Given the description of an element on the screen output the (x, y) to click on. 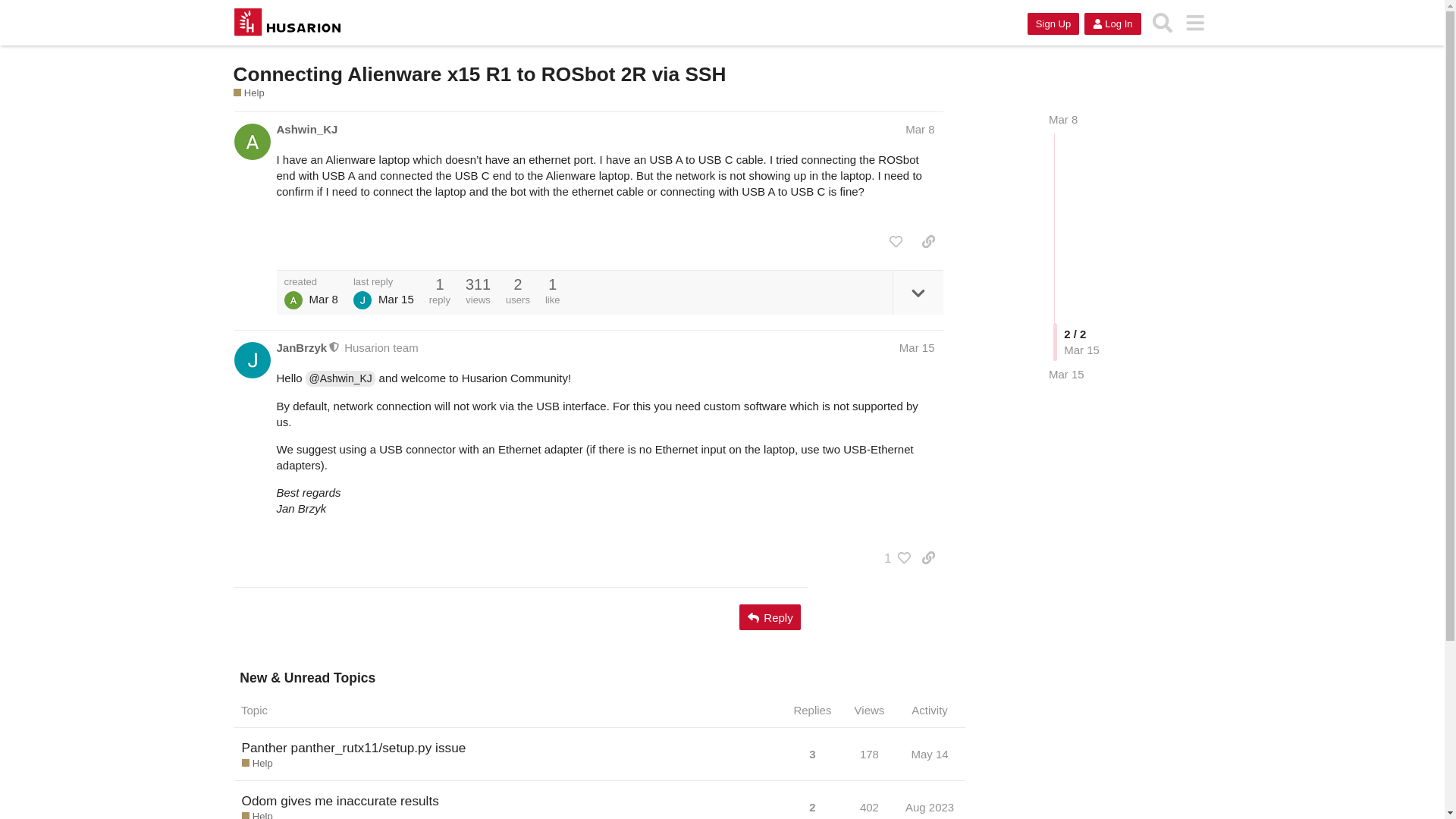
1 (893, 557)
Reply (770, 616)
Mar 8 (1062, 119)
Mar 8, 2024 1:37 am (322, 298)
Jan Brzyk (362, 300)
expand topic details (917, 292)
Ashwin Kandheri Jayaraman (292, 300)
Help (256, 814)
Help (248, 92)
Ask any questions you may have about using RoboCORE. (248, 92)
Mar 15 (916, 347)
Post date (919, 128)
menu (1195, 22)
Aug 2023 (929, 804)
Mar 15 (1066, 374)
